Given the description of an element on the screen output the (x, y) to click on. 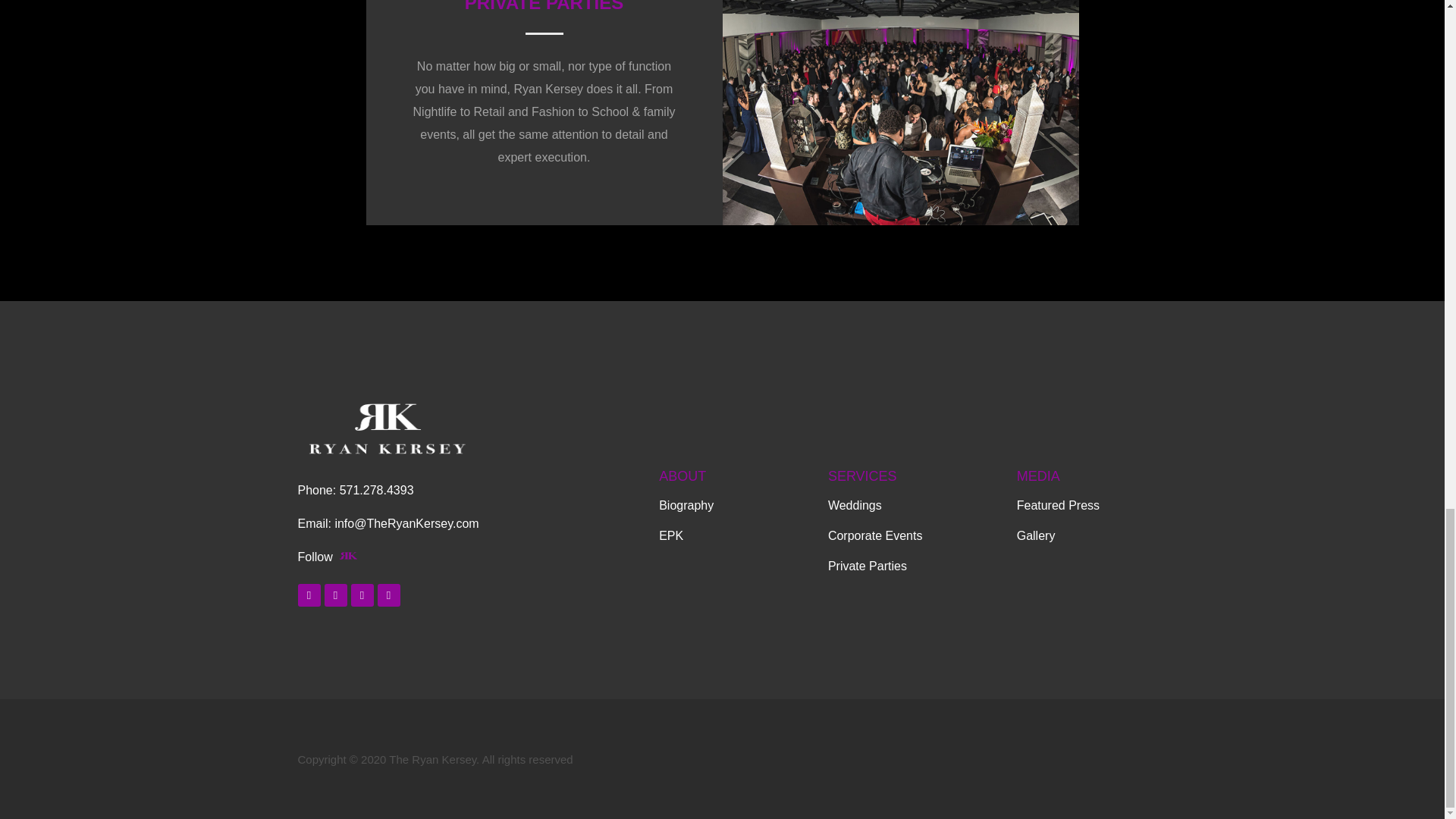
Biography (735, 505)
Gallery (1078, 535)
Private Parties (914, 566)
Featured Press (1078, 505)
EPK (735, 535)
Weddings (914, 505)
Corporate Events (914, 535)
